Given the description of an element on the screen output the (x, y) to click on. 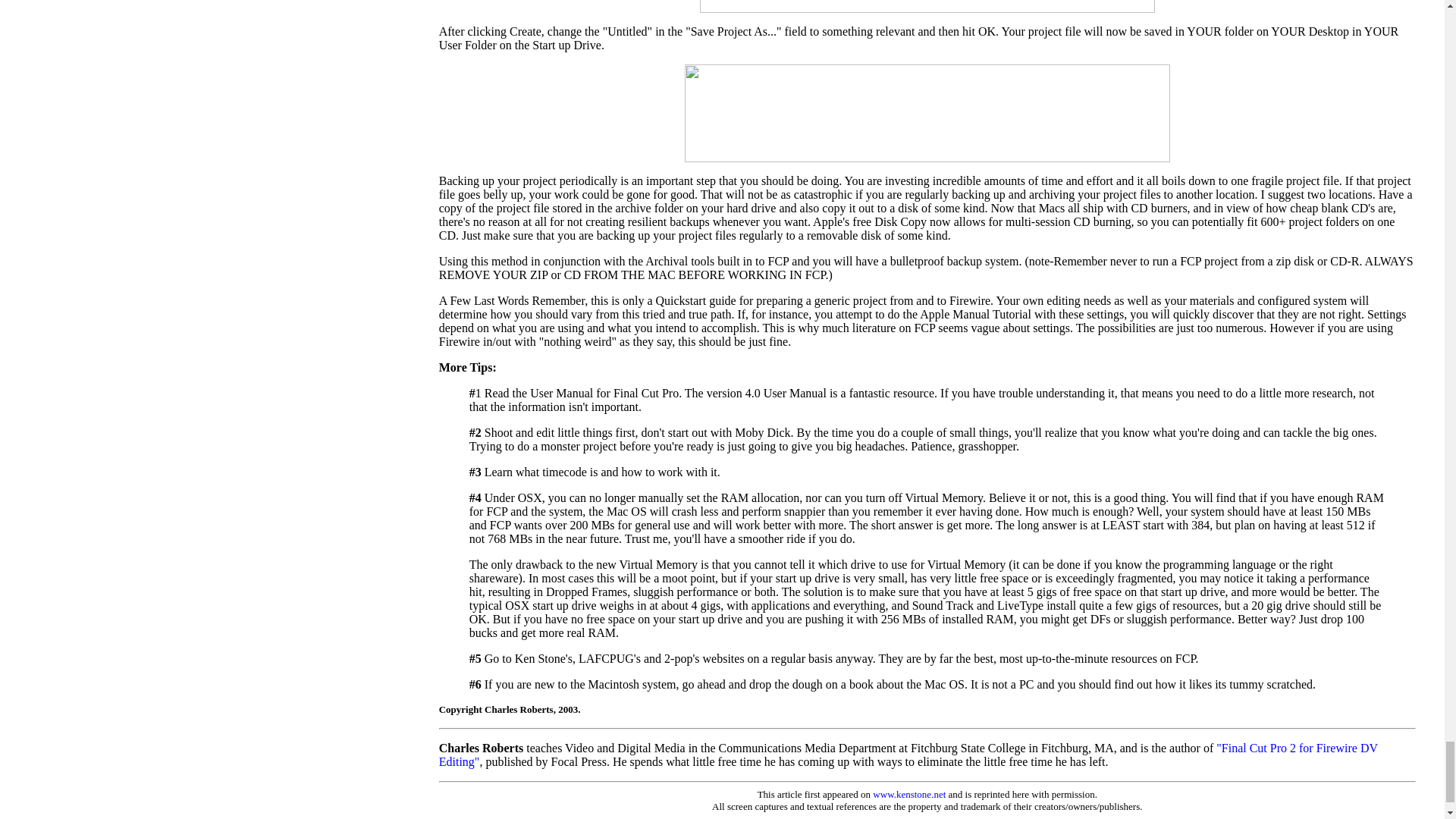
www.kenstone.net (908, 794)
"Final Cut Pro 2 for Firewire DV Editing" (908, 755)
